Given the description of an element on the screen output the (x, y) to click on. 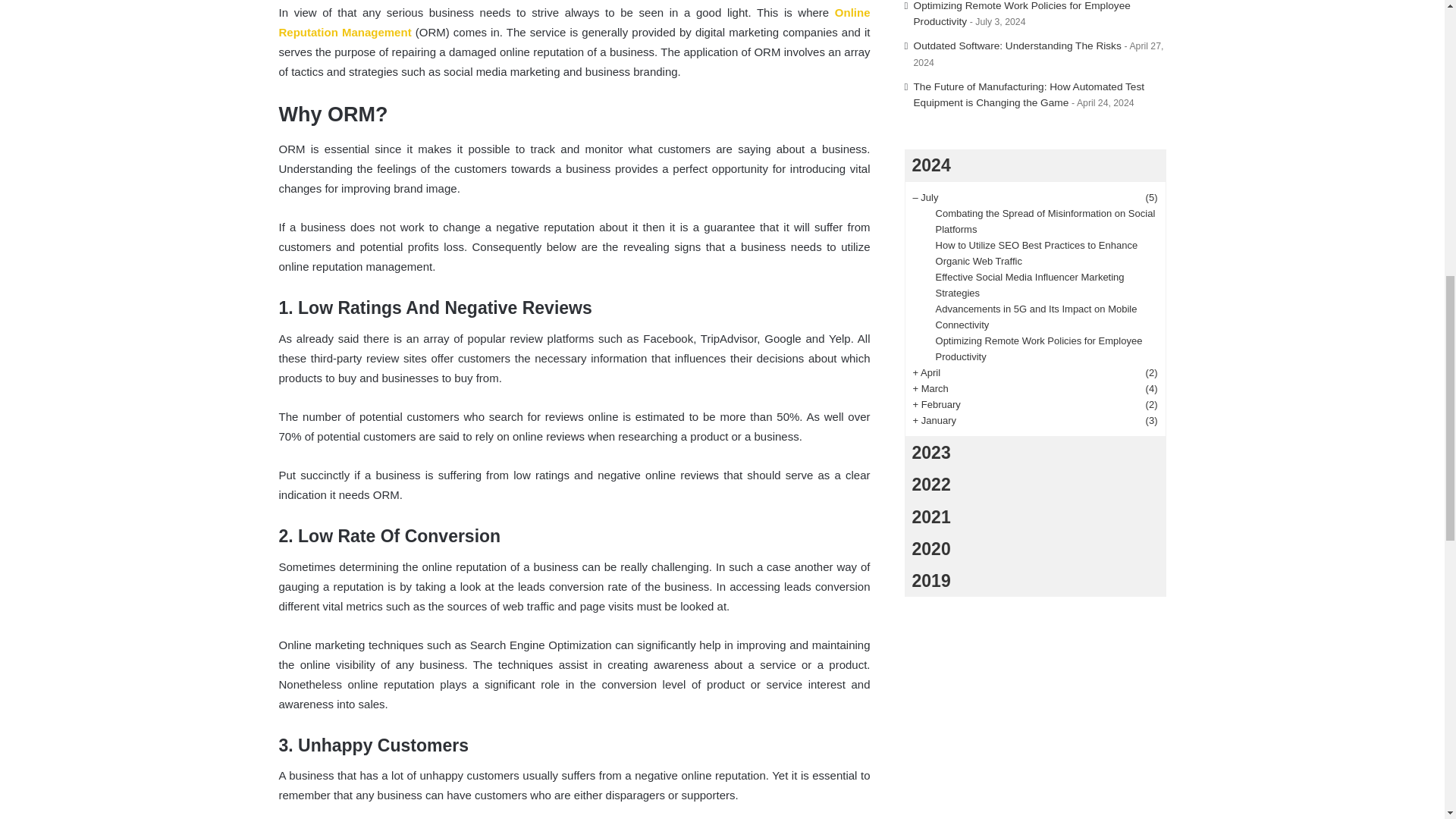
Online Reputation Management (574, 21)
